Given the description of an element on the screen output the (x, y) to click on. 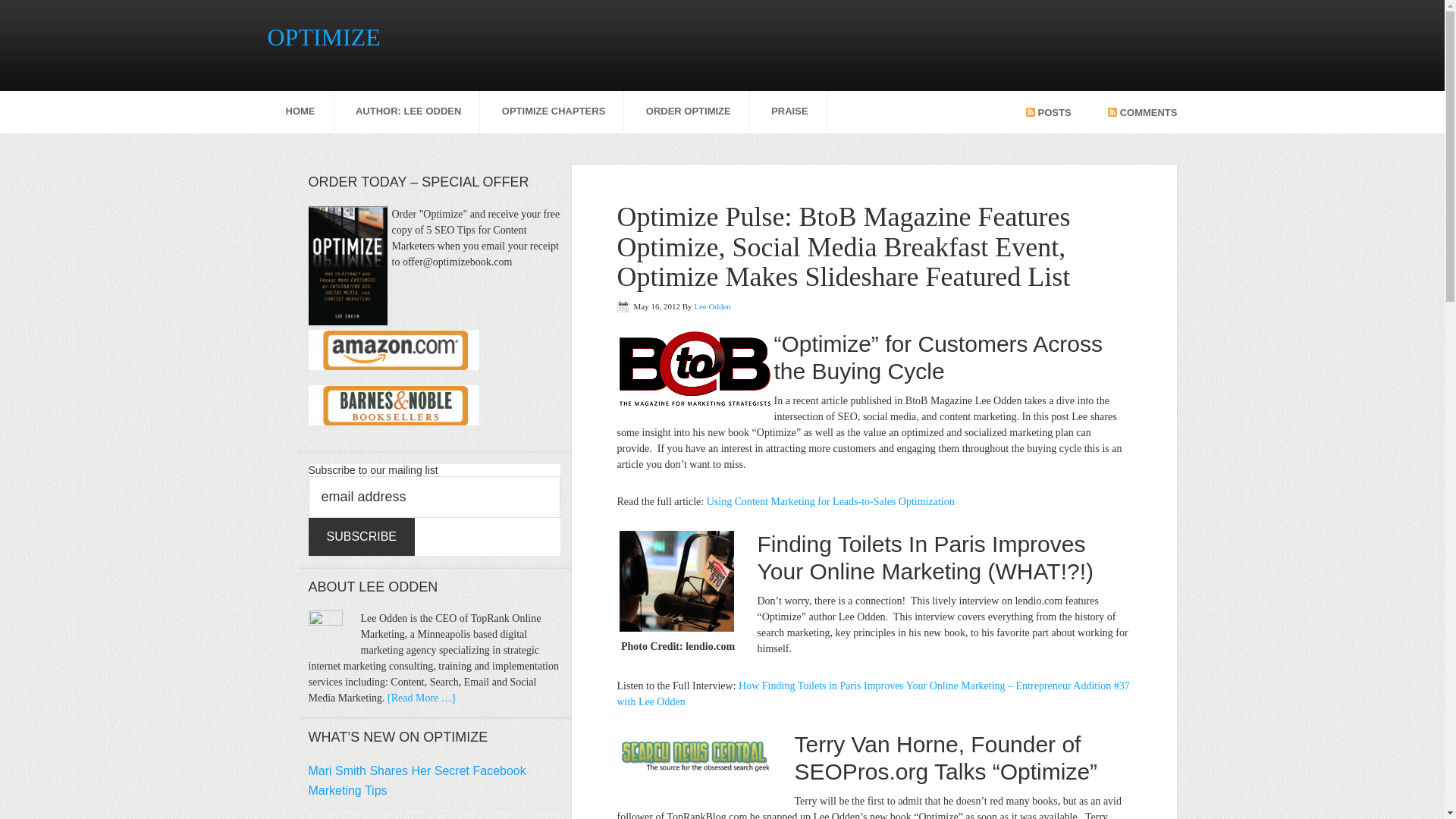
btob magazine logo (694, 368)
Mari Smith Shares Her Secret Facebook Marketing Tips (416, 780)
Subscribe (360, 536)
COMMENTS (1142, 111)
PRAISE (788, 110)
OPTIMIZE CHAPTERS (553, 110)
POSTS (1048, 111)
Barnes and Noble.com (393, 404)
AUTHOR: LEE ODDEN (408, 110)
OPTIMIZE (323, 36)
Using Content Marketing for Leads-to-Sales Optimization (830, 501)
HOME (299, 110)
searchnewscentral (696, 755)
Amazon.com (393, 350)
ORDER OPTIMIZE (688, 110)
